Given the description of an element on the screen output the (x, y) to click on. 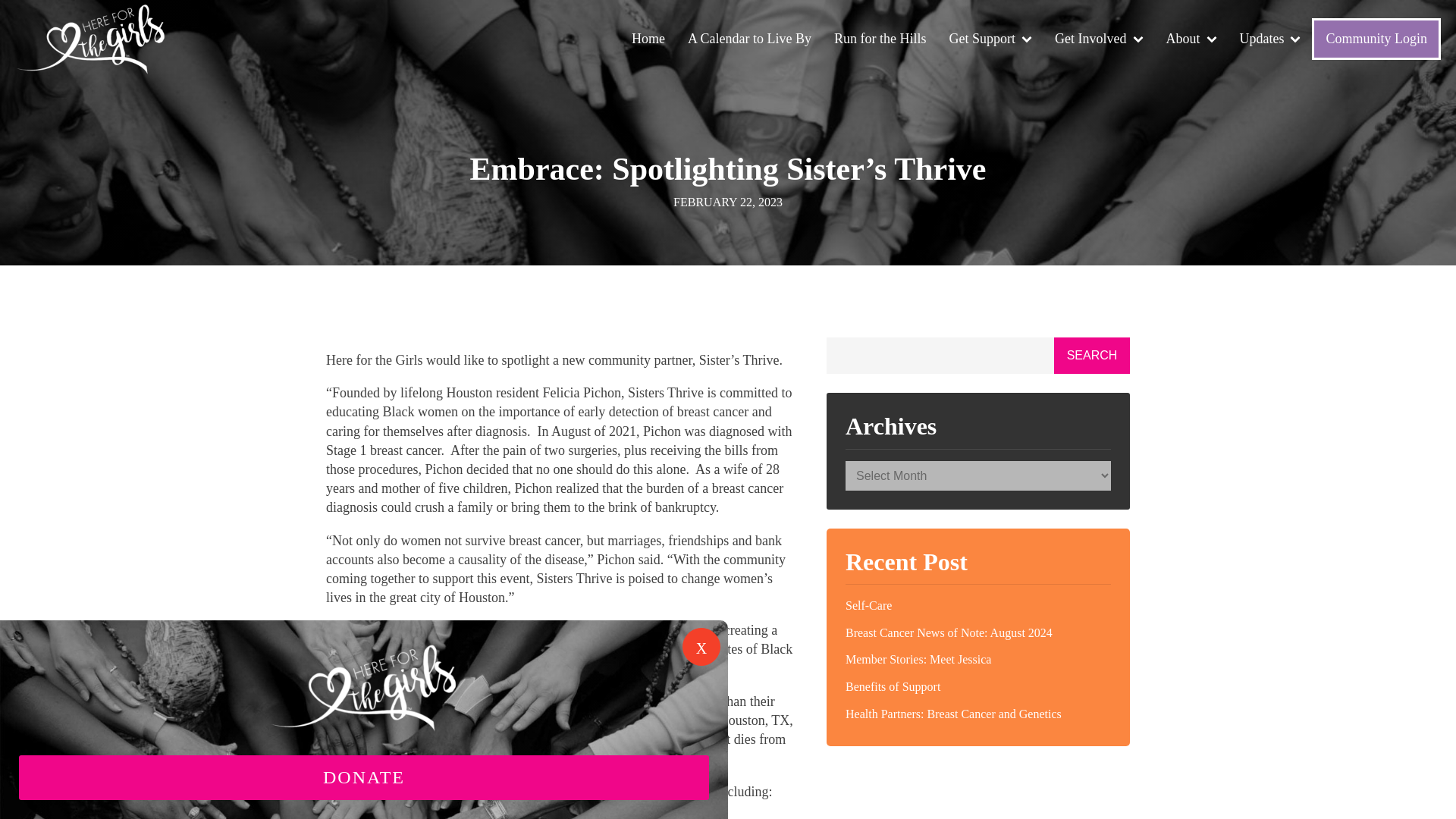
Updates (1270, 38)
Get Support (990, 38)
A Calendar to Live By (749, 38)
Health Partners: Breast Cancer and Genetics (977, 714)
Here For The Girls (90, 38)
Self-Care (977, 605)
Blog (1270, 38)
Member Stories: Meet Jessica (977, 659)
Search (1091, 355)
Home (648, 38)
